Given the description of an element on the screen output the (x, y) to click on. 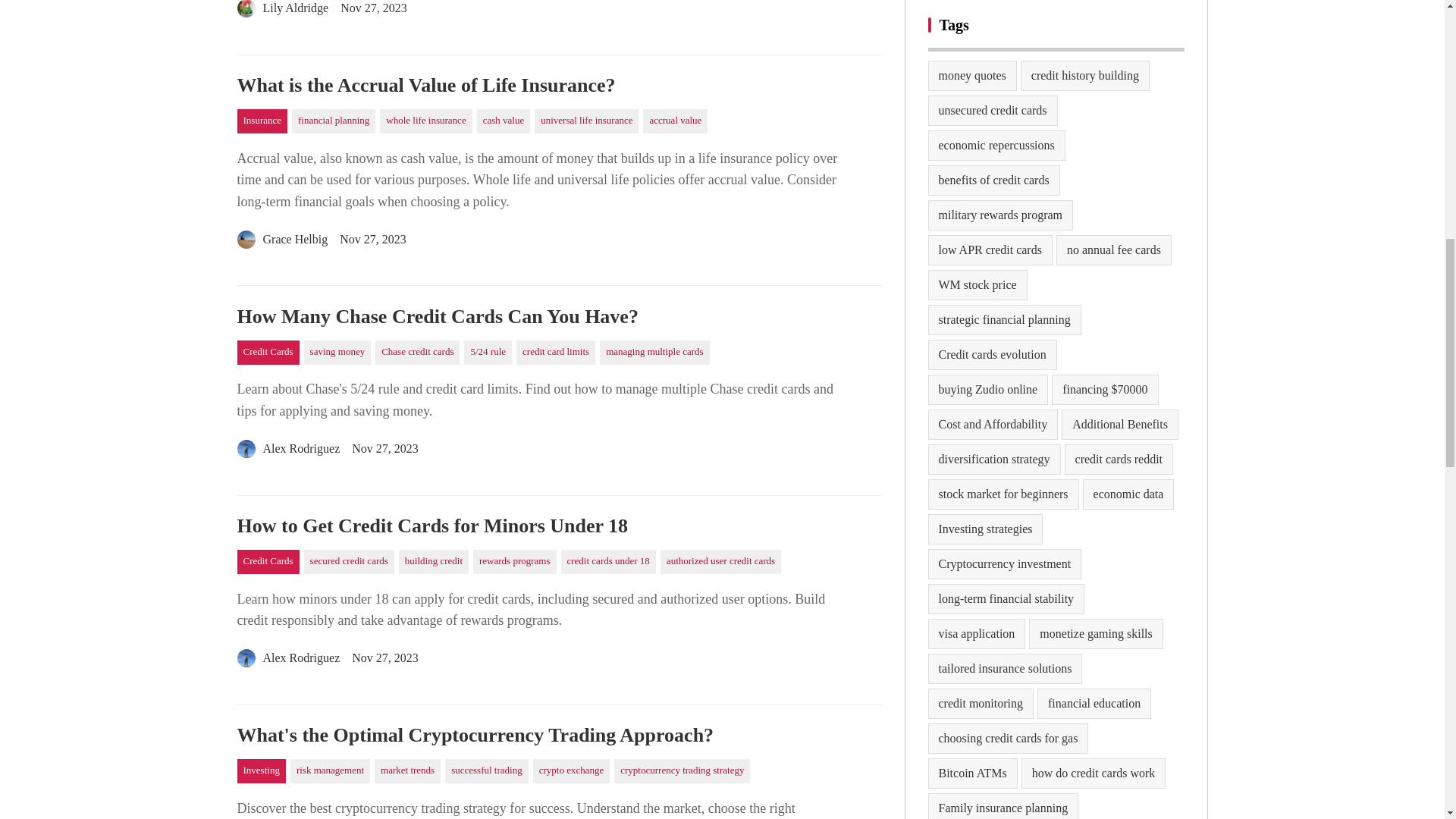
whole life insurance (425, 120)
Lily Aldridge (282, 11)
financial planning (333, 120)
Insurance (260, 120)
What is the Accrual Value of Life Insurance? (557, 85)
